Given the description of an element on the screen output the (x, y) to click on. 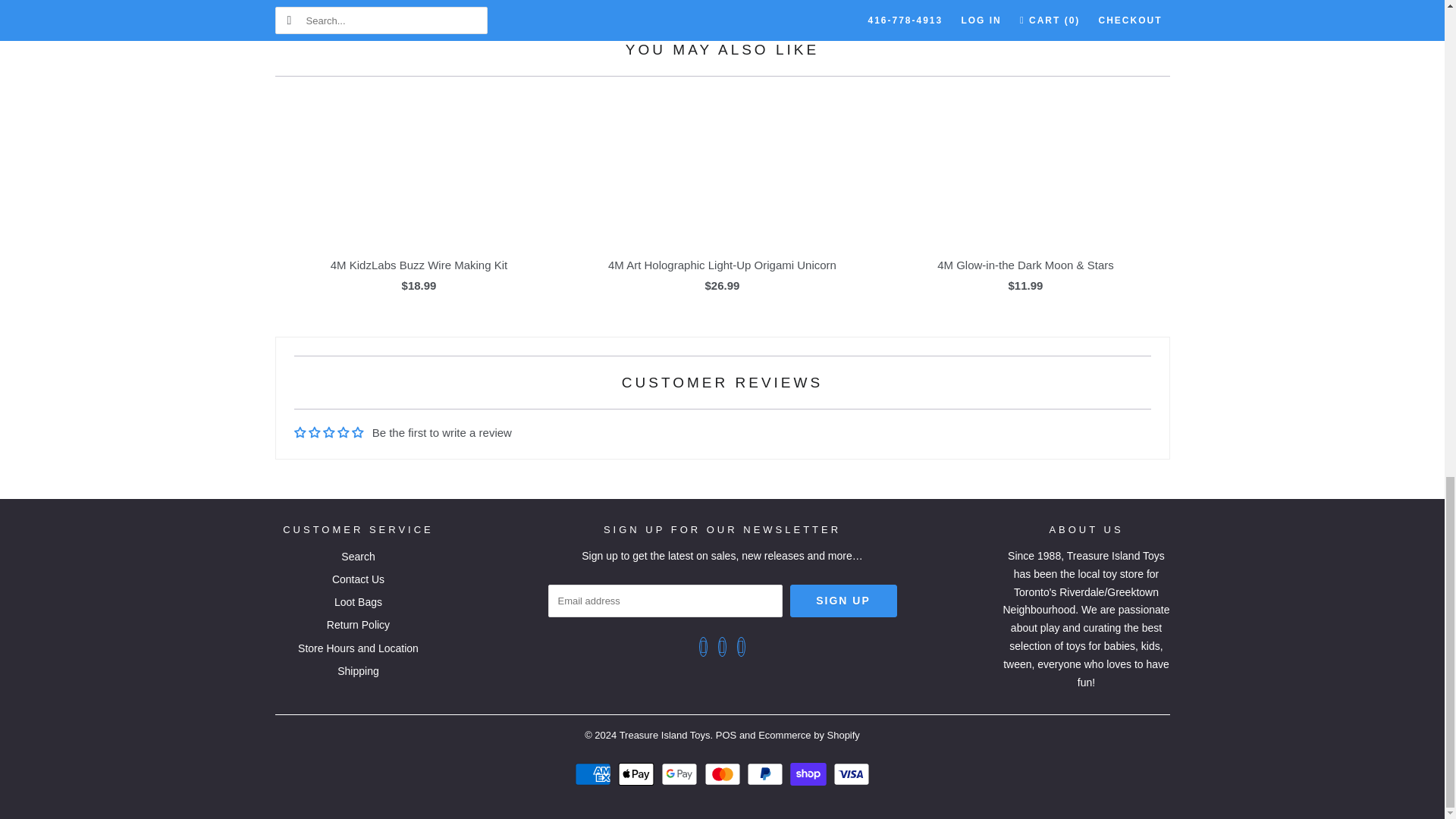
Mastercard (723, 773)
Shop Pay (809, 773)
Sign Up (843, 600)
American Express (594, 773)
Google Pay (681, 773)
Visa (850, 773)
Apple Pay (637, 773)
PayPal (766, 773)
